Given the description of an element on the screen output the (x, y) to click on. 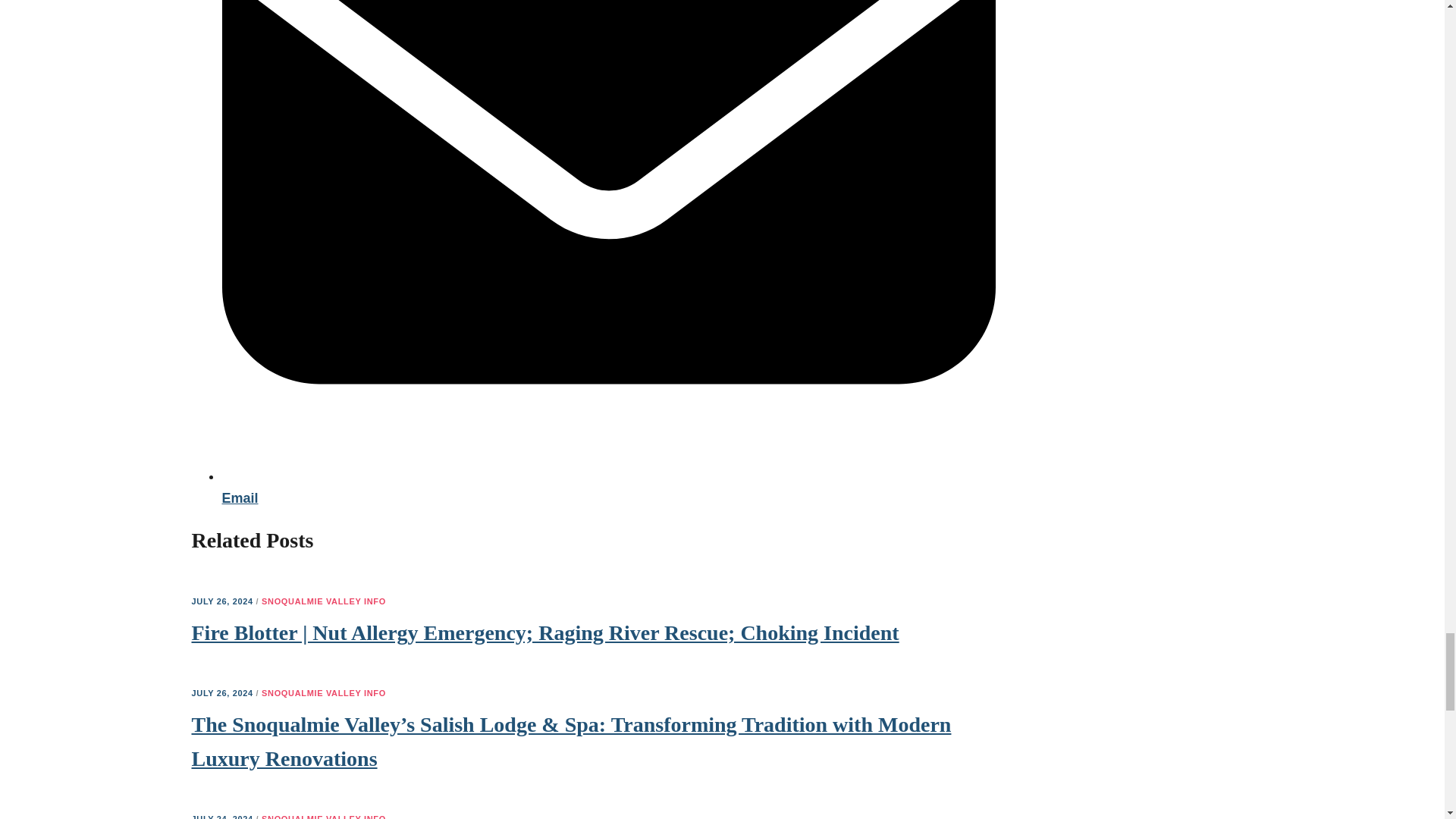
Email (607, 487)
